Given the description of an element on the screen output the (x, y) to click on. 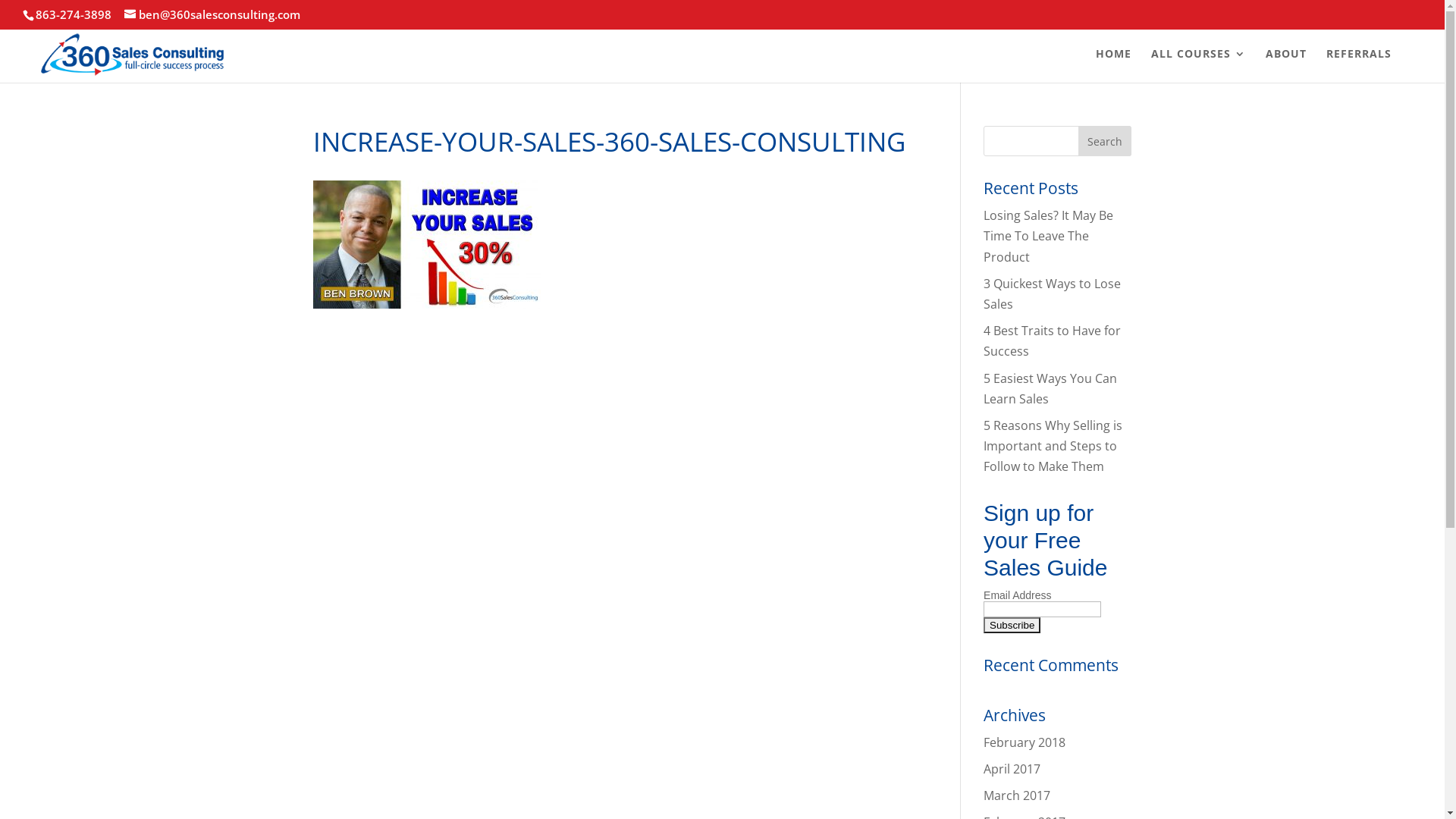
4 Best Traits to Have for Success Element type: text (1051, 340)
ALL COURSES Element type: text (1198, 63)
March 2017 Element type: text (1016, 795)
863-274-3898 Element type: text (73, 13)
February 2018 Element type: text (1024, 742)
ben@360salesconsulting.com Element type: text (212, 13)
Subscribe Element type: text (1011, 625)
April 2017 Element type: text (1011, 768)
Losing Sales? It May Be Time To Leave The Product Element type: text (1048, 235)
3 Quickest Ways to Lose Sales Element type: text (1051, 293)
ABOUT Element type: text (1285, 63)
HOME Element type: text (1113, 63)
Search Element type: text (1104, 140)
REFERRALS Element type: text (1358, 63)
5 Easiest Ways You Can Learn Sales Element type: text (1050, 388)
